Given the description of an element on the screen output the (x, y) to click on. 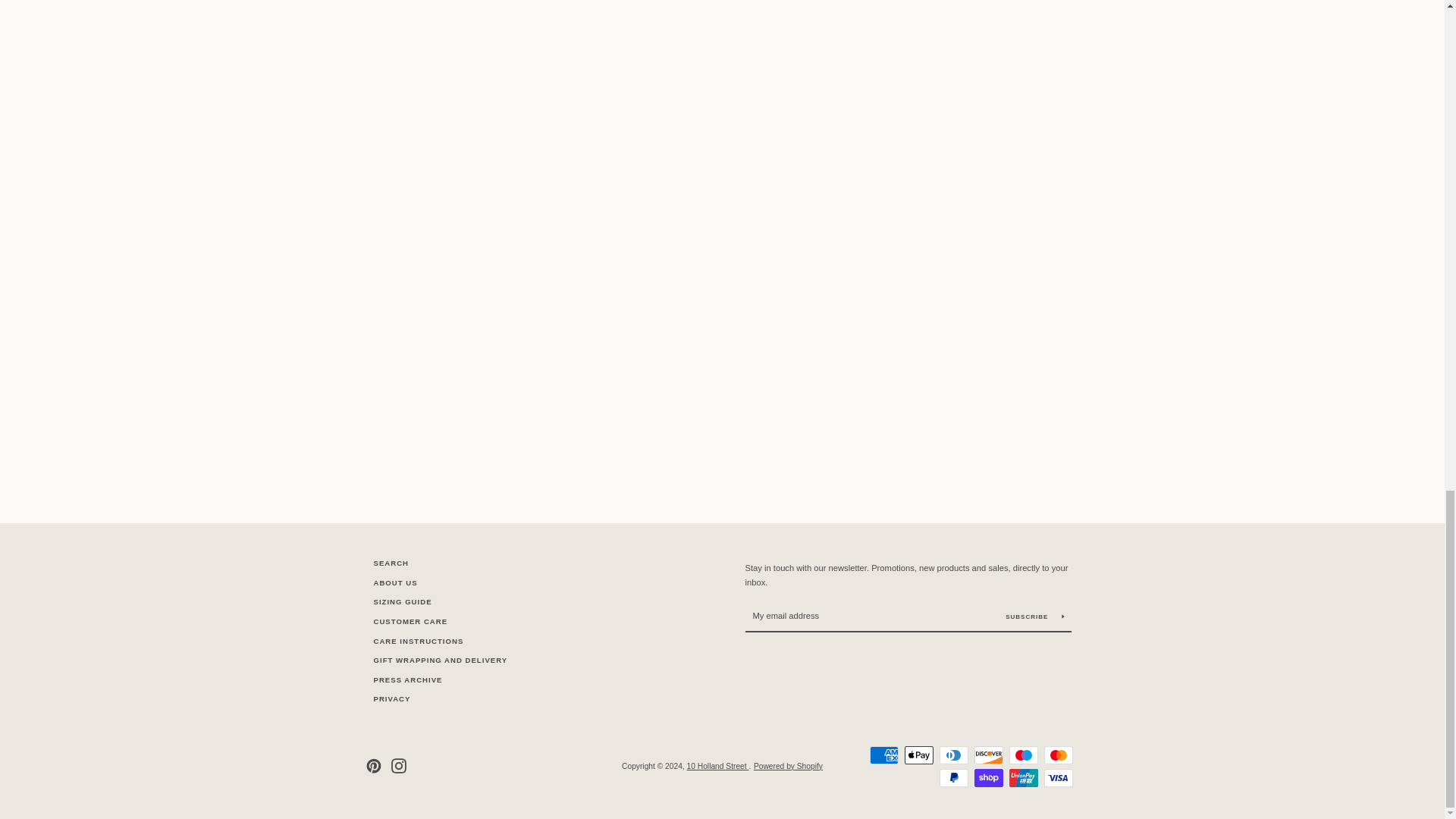
Shop Pay (988, 778)
10 Holland Street  on Pinterest (372, 765)
Diners Club (953, 755)
Union Pay (1022, 778)
Apple Pay (918, 755)
American Express (883, 755)
PayPal (953, 778)
Visa (1057, 778)
Maestro (1022, 755)
Mastercard (1057, 755)
10 Holland Street  on Instagram (398, 765)
Discover (988, 755)
